Given the description of an element on the screen output the (x, y) to click on. 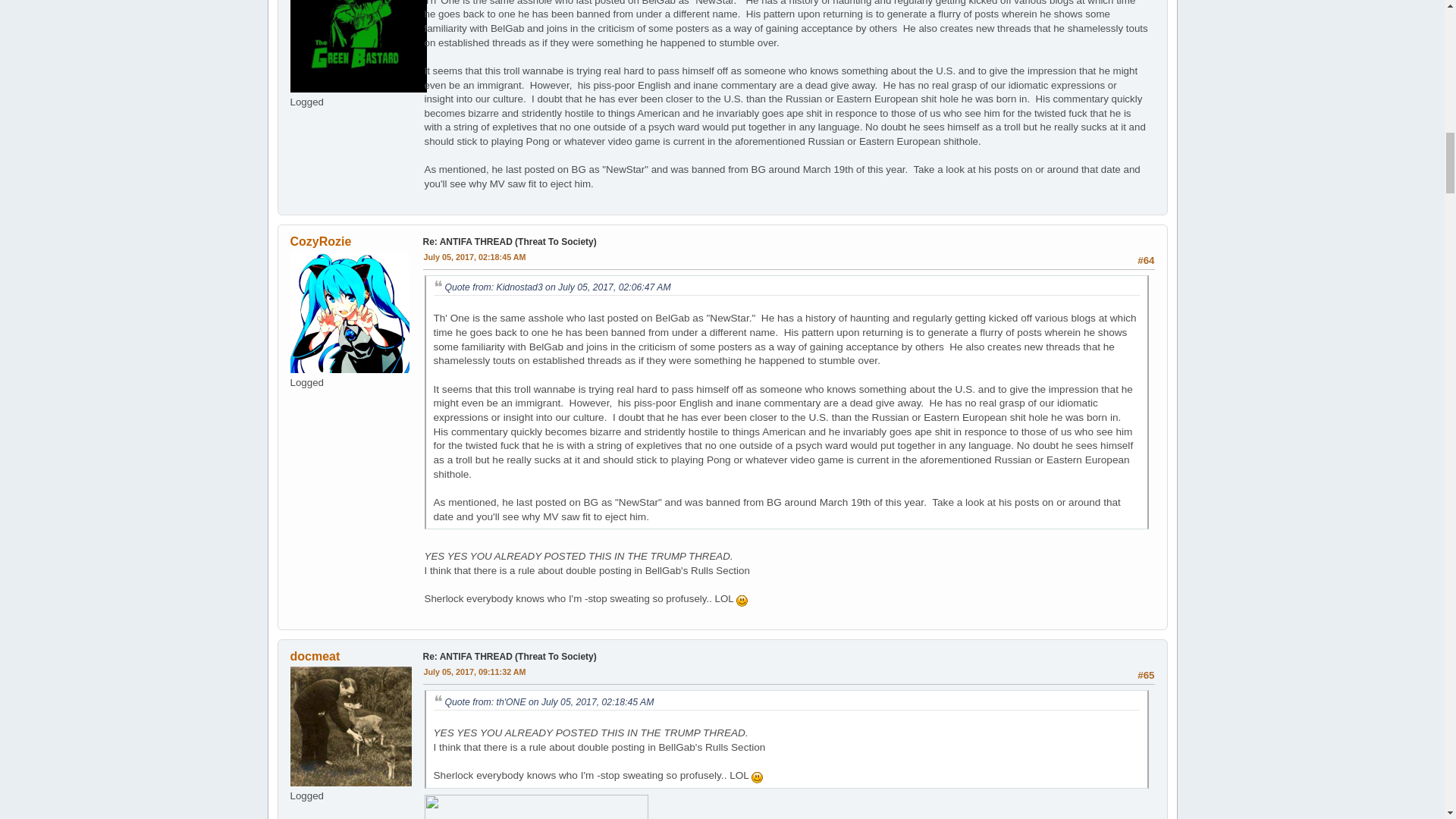
Smiley (742, 600)
Smiley (756, 777)
View the profile of docmeat (314, 656)
View the profile of CozyRozie (319, 241)
